Given the description of an element on the screen output the (x, y) to click on. 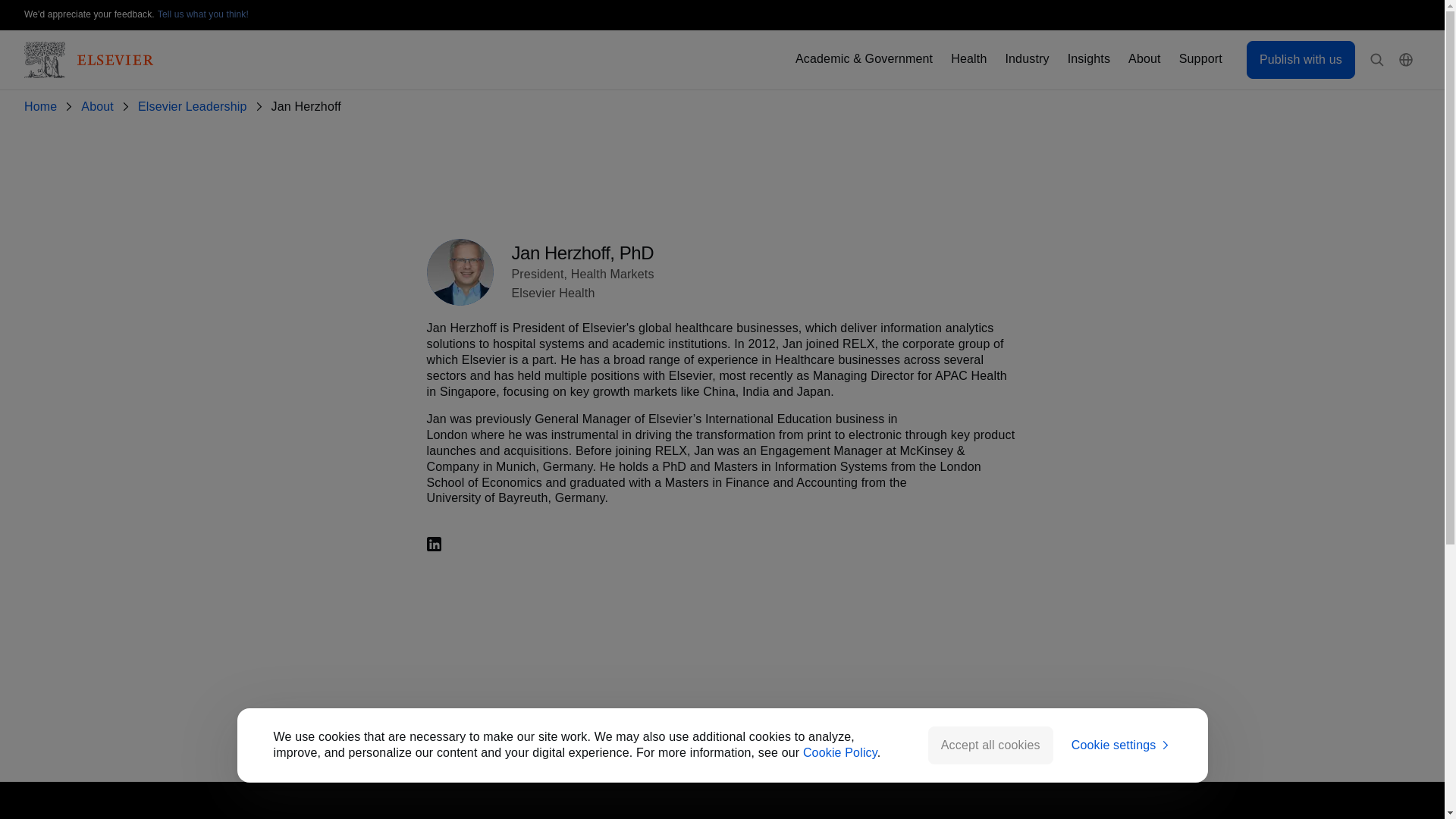
Industry (1026, 59)
Elsevier Leadership (195, 107)
About (100, 107)
Accept all cookies (990, 745)
Home (43, 107)
About (1144, 59)
Publish with us (1300, 59)
Health (968, 59)
Location Selector (1406, 59)
Cookie Policy (840, 752)
Open Search (1376, 59)
Insights (1088, 59)
Cookie settings (1121, 745)
Support (1201, 59)
